Given the description of an element on the screen output the (x, y) to click on. 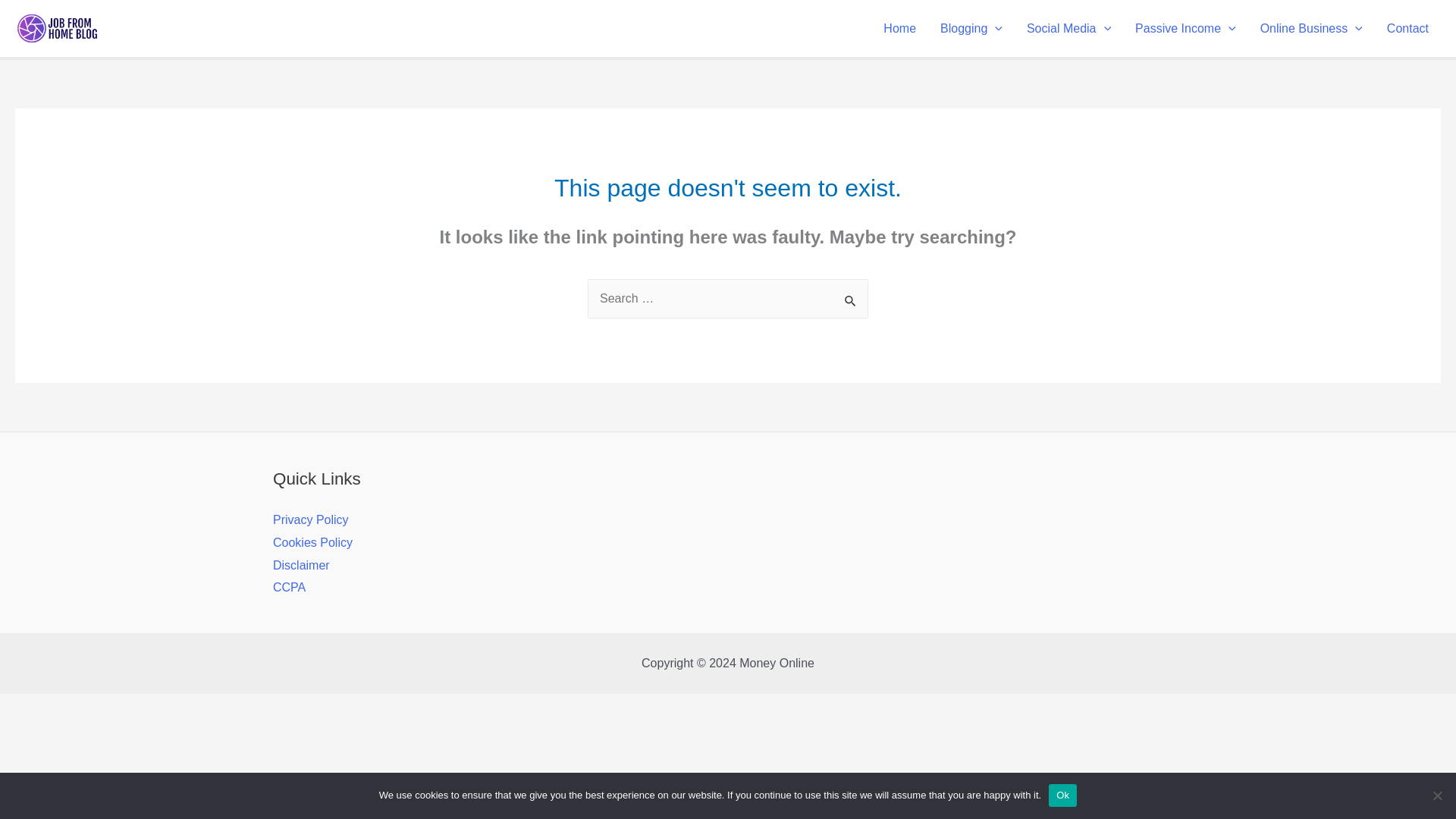
Contact (1407, 28)
Social Media (1068, 28)
Home (899, 28)
Blogging (971, 28)
Passive Income (1184, 28)
Online Business (1310, 28)
